Given the description of an element on the screen output the (x, y) to click on. 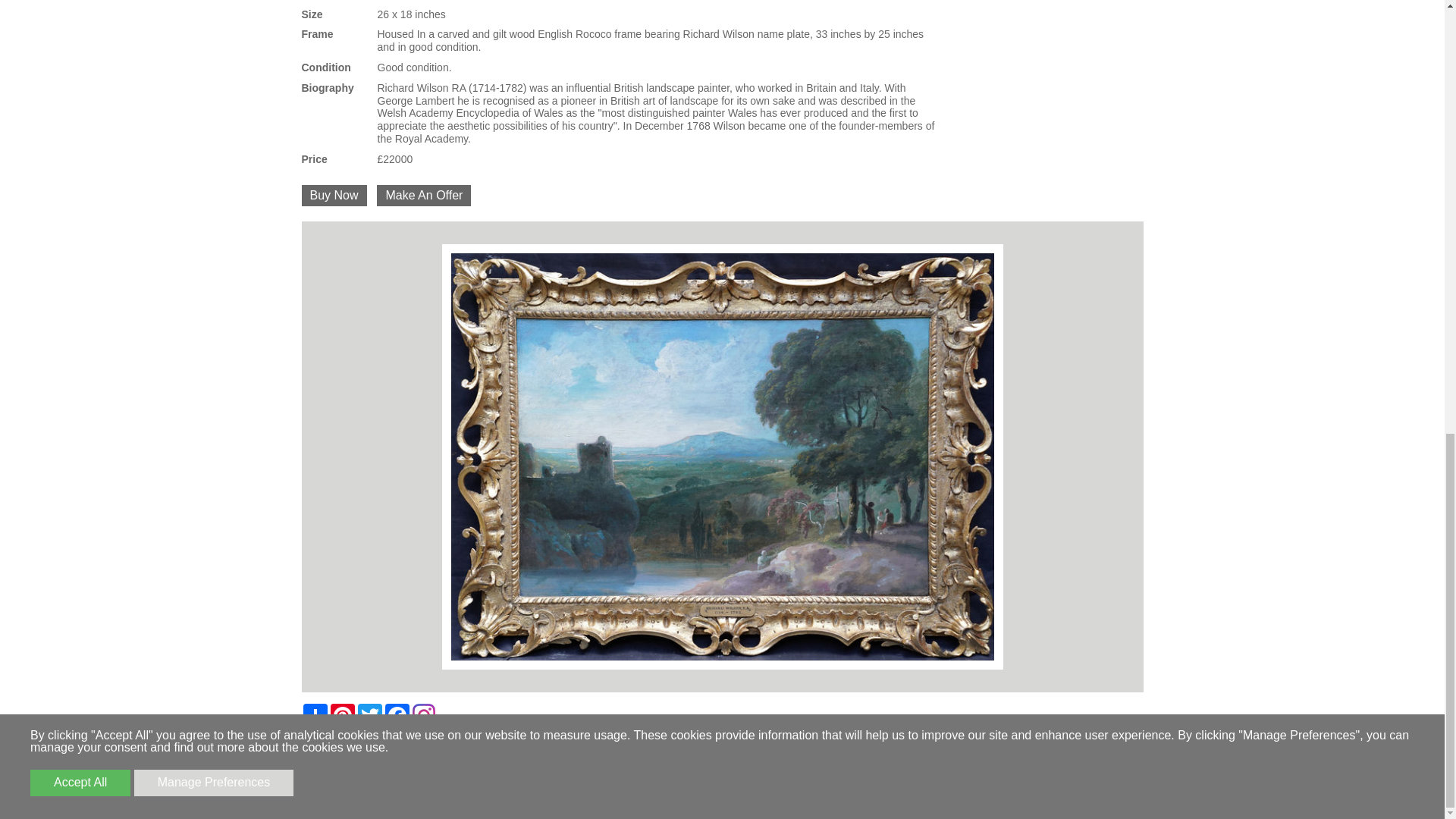
Buy Now (333, 196)
instagram (423, 714)
Make An Offer (423, 196)
